Given the description of an element on the screen output the (x, y) to click on. 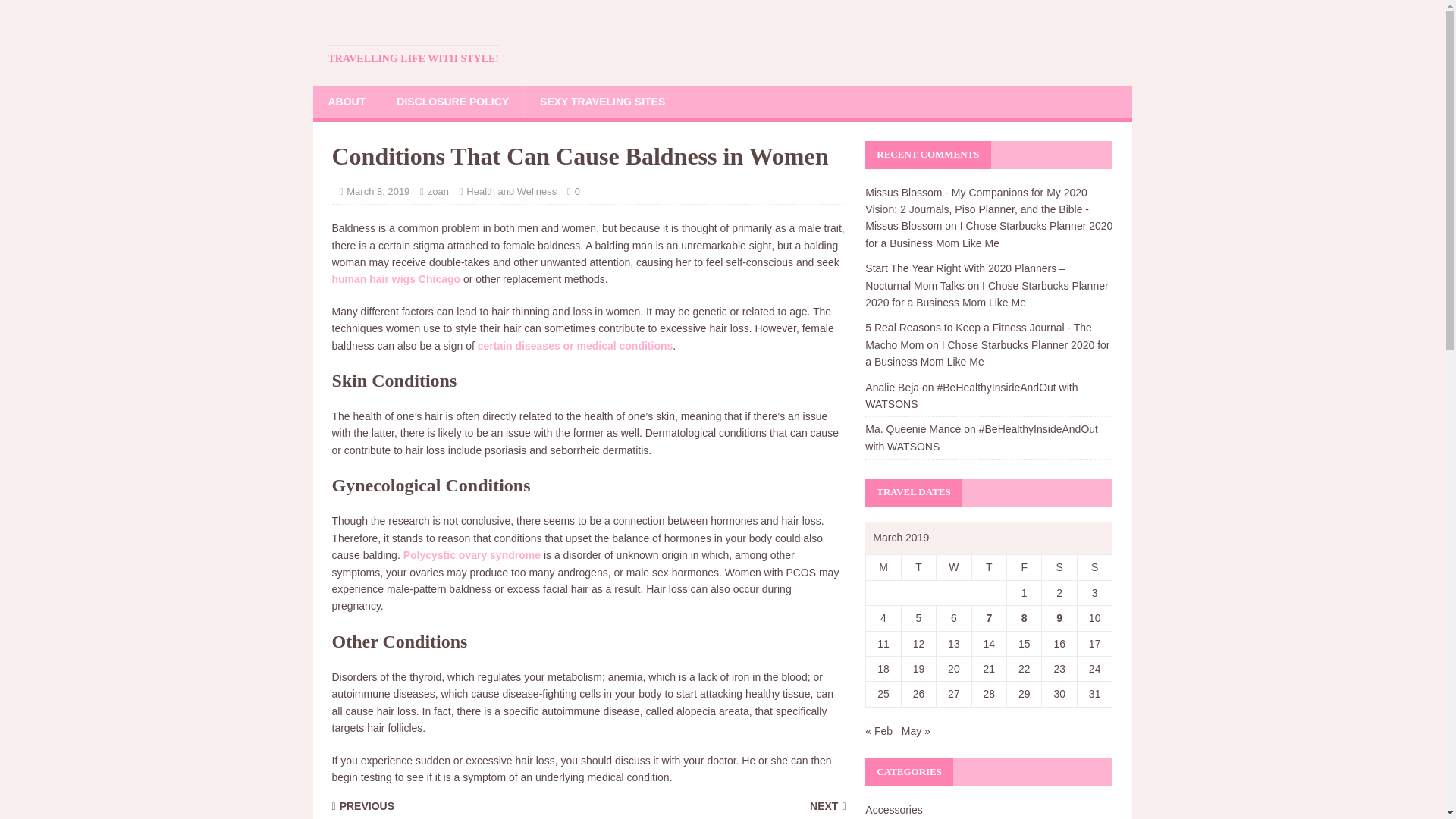
Health and Wellness (510, 191)
I Chose Starbucks Planner 2020 for a Business Mom Like Me (986, 294)
Sunday (1094, 567)
zoan (438, 191)
SEXY TRAVELING SITES (601, 101)
Saturday (1059, 567)
March 8, 2019 (377, 191)
Friday (1024, 567)
certain diseases or medical conditions (574, 345)
